Given the description of an element on the screen output the (x, y) to click on. 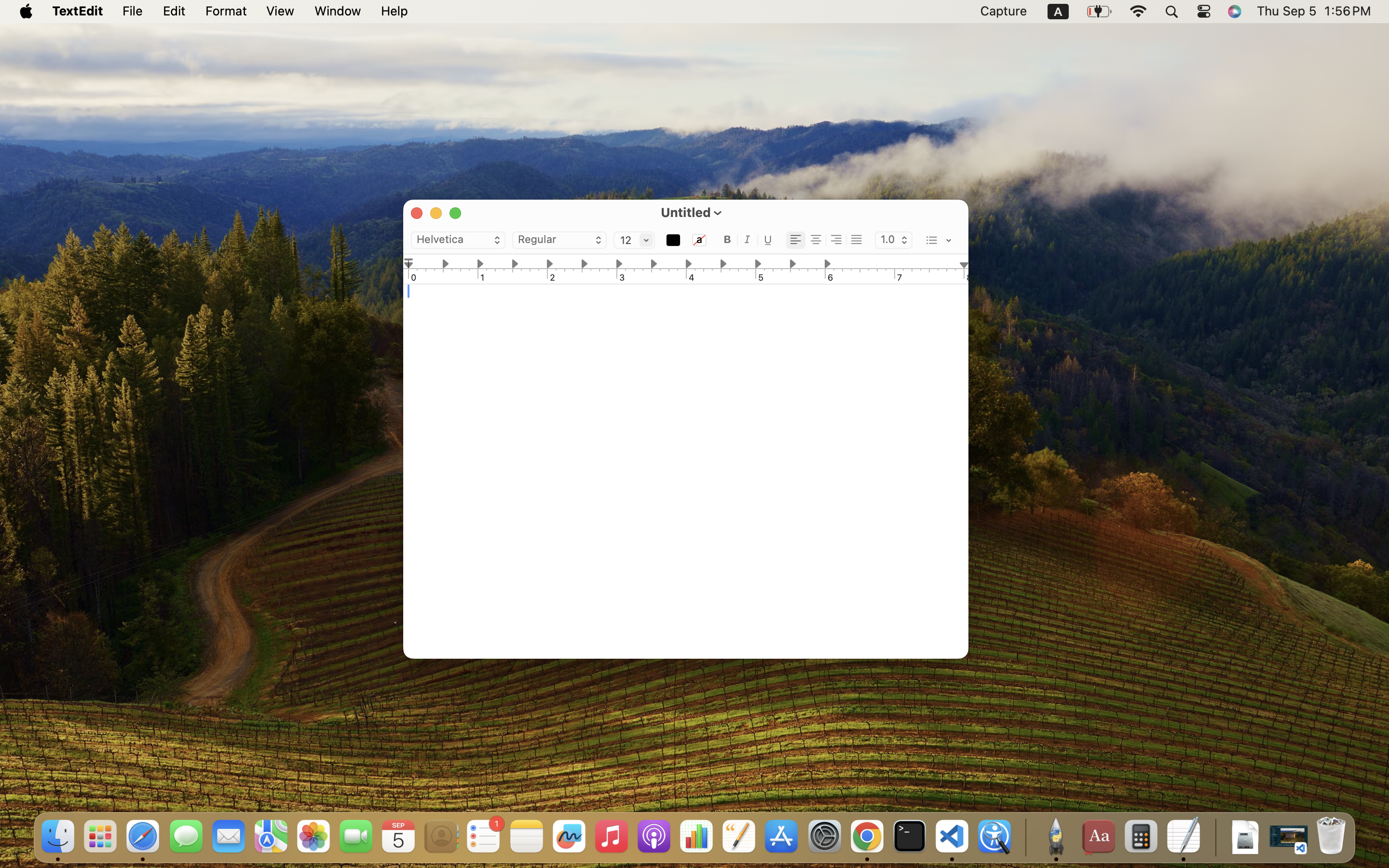
<AXUIElement 0x2d92b8390> {pid=2068} Element type: AXRadioGroup (826, 240)
Regular Element type: AXPopUpButton (559, 240)
